Given the description of an element on the screen output the (x, y) to click on. 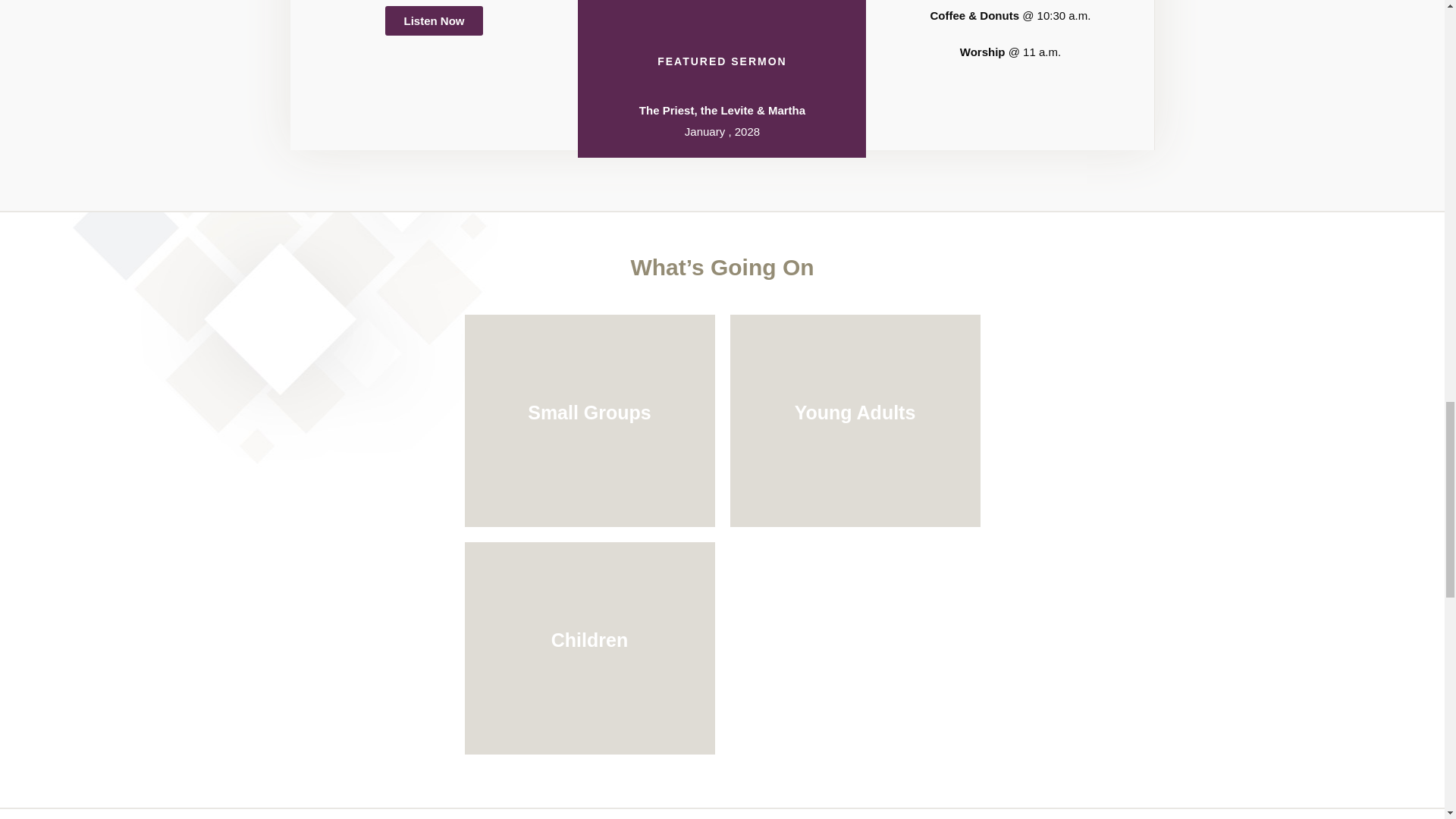
Small Groups (589, 420)
Children (589, 648)
Young Adults (854, 420)
Listen Now (433, 20)
